Given the description of an element on the screen output the (x, y) to click on. 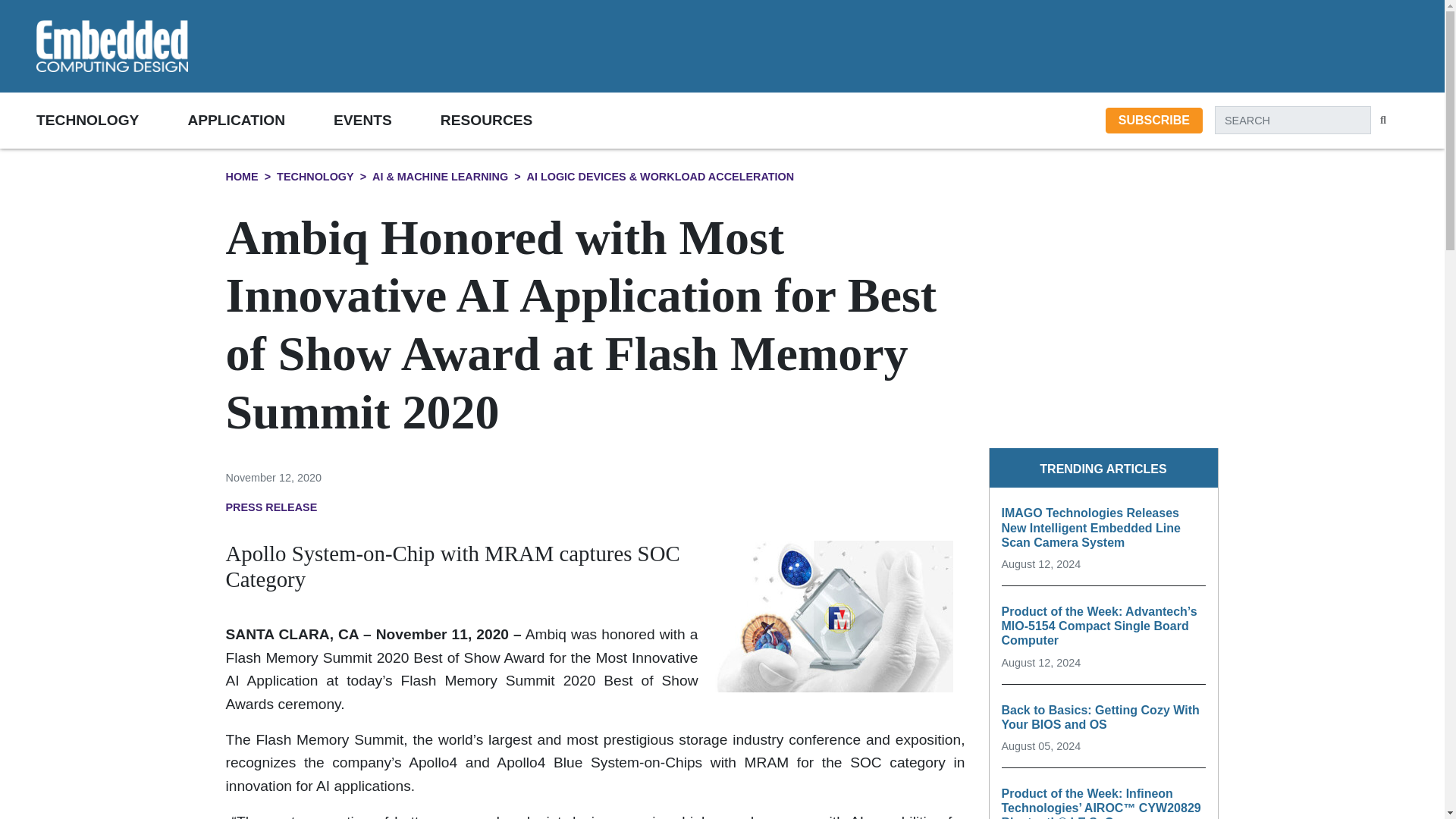
APPLICATION (260, 120)
RESOURCES (510, 120)
TECHNOLOGY (111, 120)
EVENTS (387, 120)
